Given the description of an element on the screen output the (x, y) to click on. 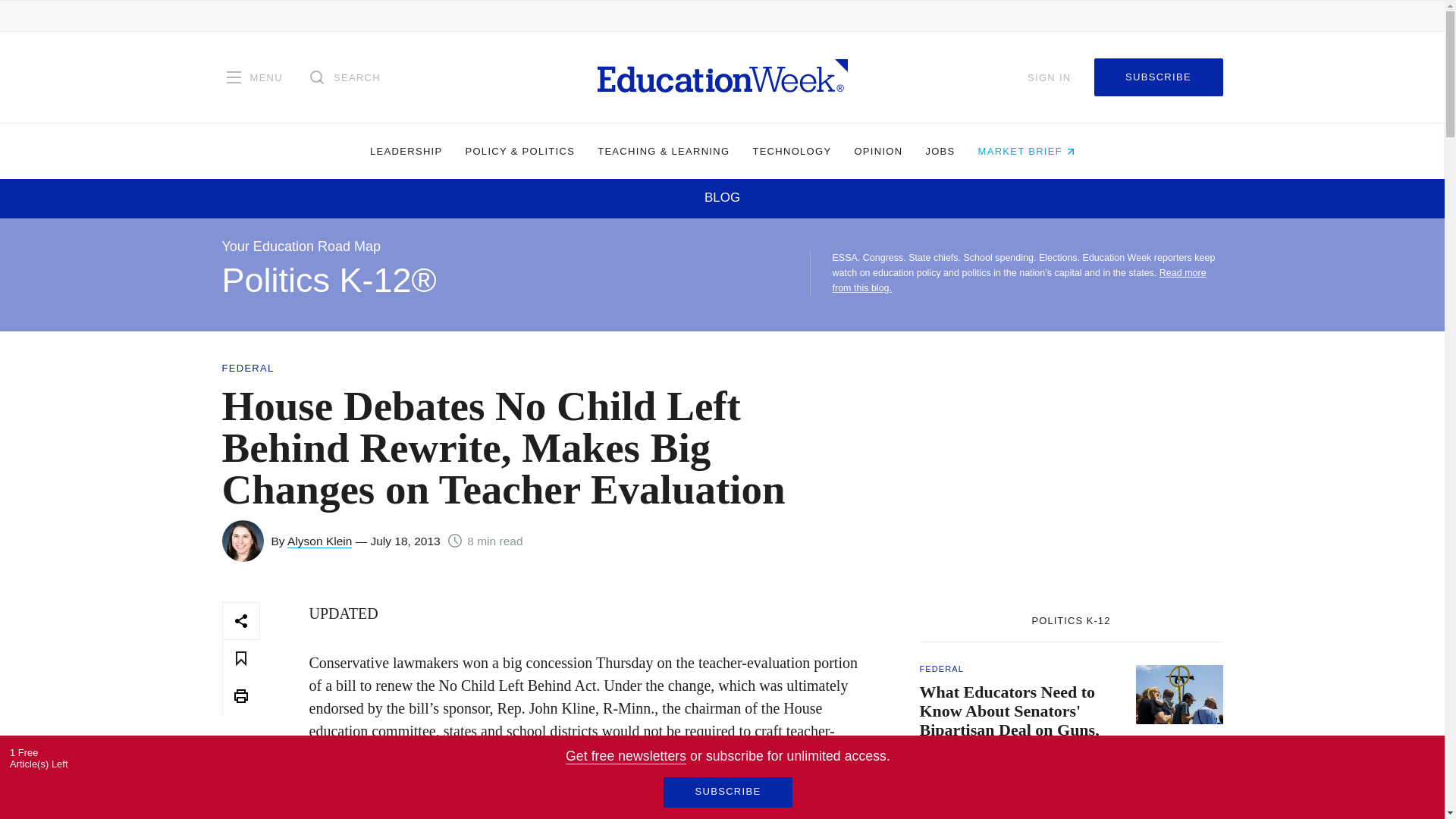
Homepage (721, 76)
